Given the description of an element on the screen output the (x, y) to click on. 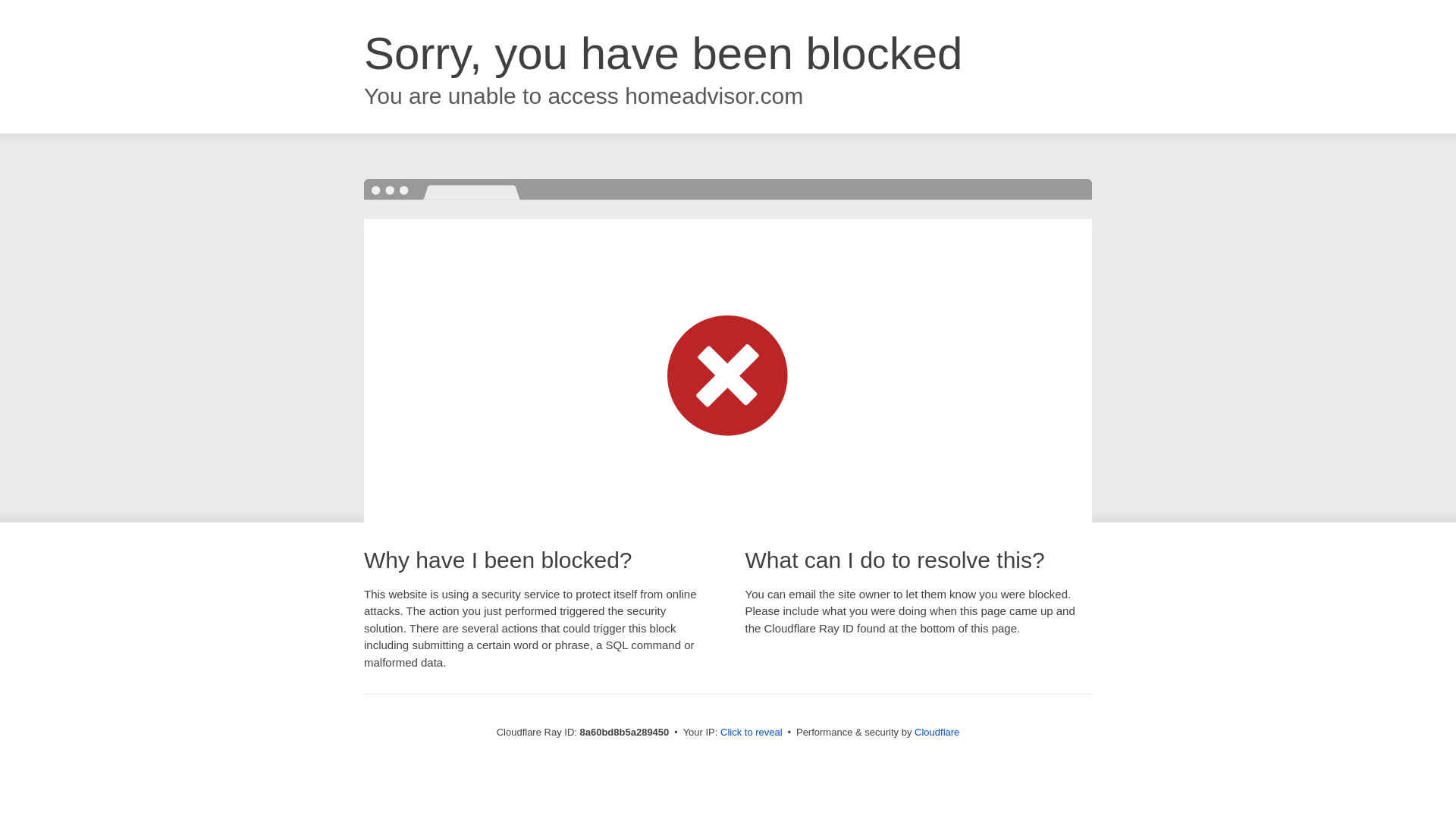
Cloudflare (936, 731)
Click to reveal (751, 732)
